Given the description of an element on the screen output the (x, y) to click on. 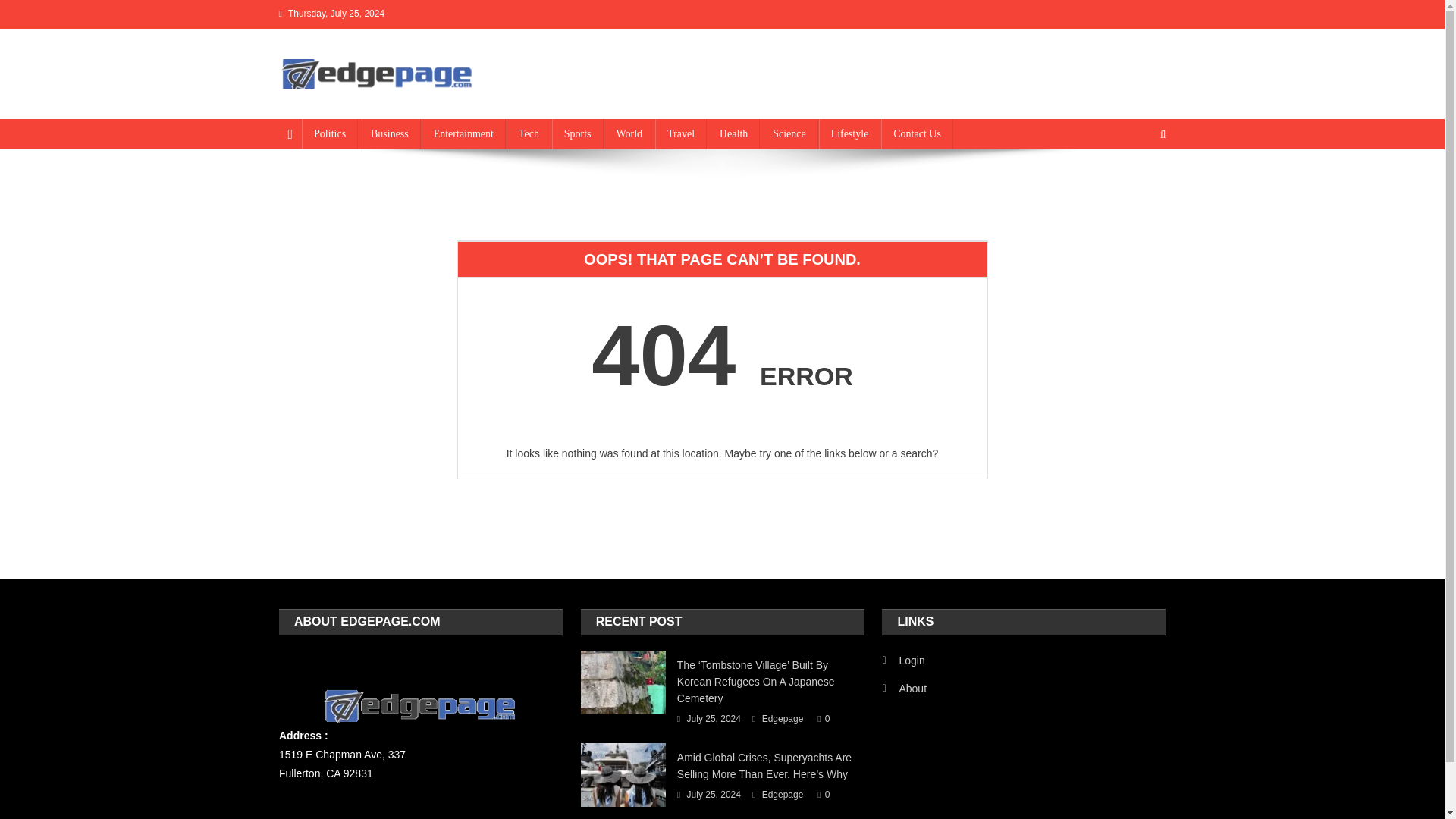
Health (733, 133)
Lifestyle (849, 133)
Entertainment (463, 133)
July 25, 2024 (714, 719)
Edgepage (782, 719)
About (904, 688)
Business (389, 133)
Sports (577, 133)
Politics (329, 133)
Search (1133, 185)
Travel (680, 133)
Tech (528, 133)
Login (903, 660)
July 25, 2024 (714, 795)
World (628, 133)
